Given the description of an element on the screen output the (x, y) to click on. 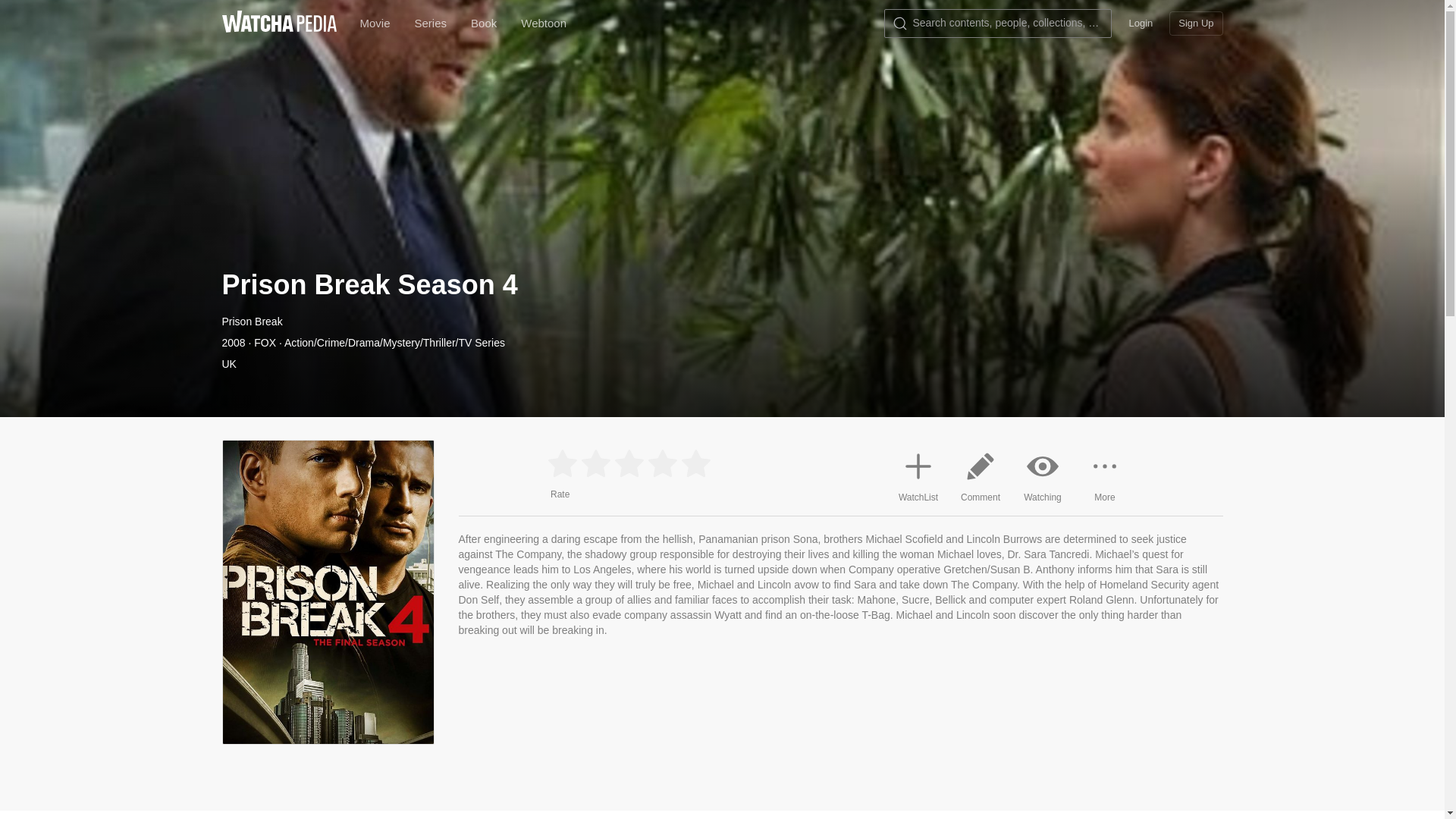
Series (431, 23)
Book (483, 23)
More (1104, 473)
Webtoon (543, 23)
Login (1140, 23)
Comment (980, 473)
Watching (1042, 473)
Sign Up (1196, 23)
Movie (374, 23)
